Given the description of an element on the screen output the (x, y) to click on. 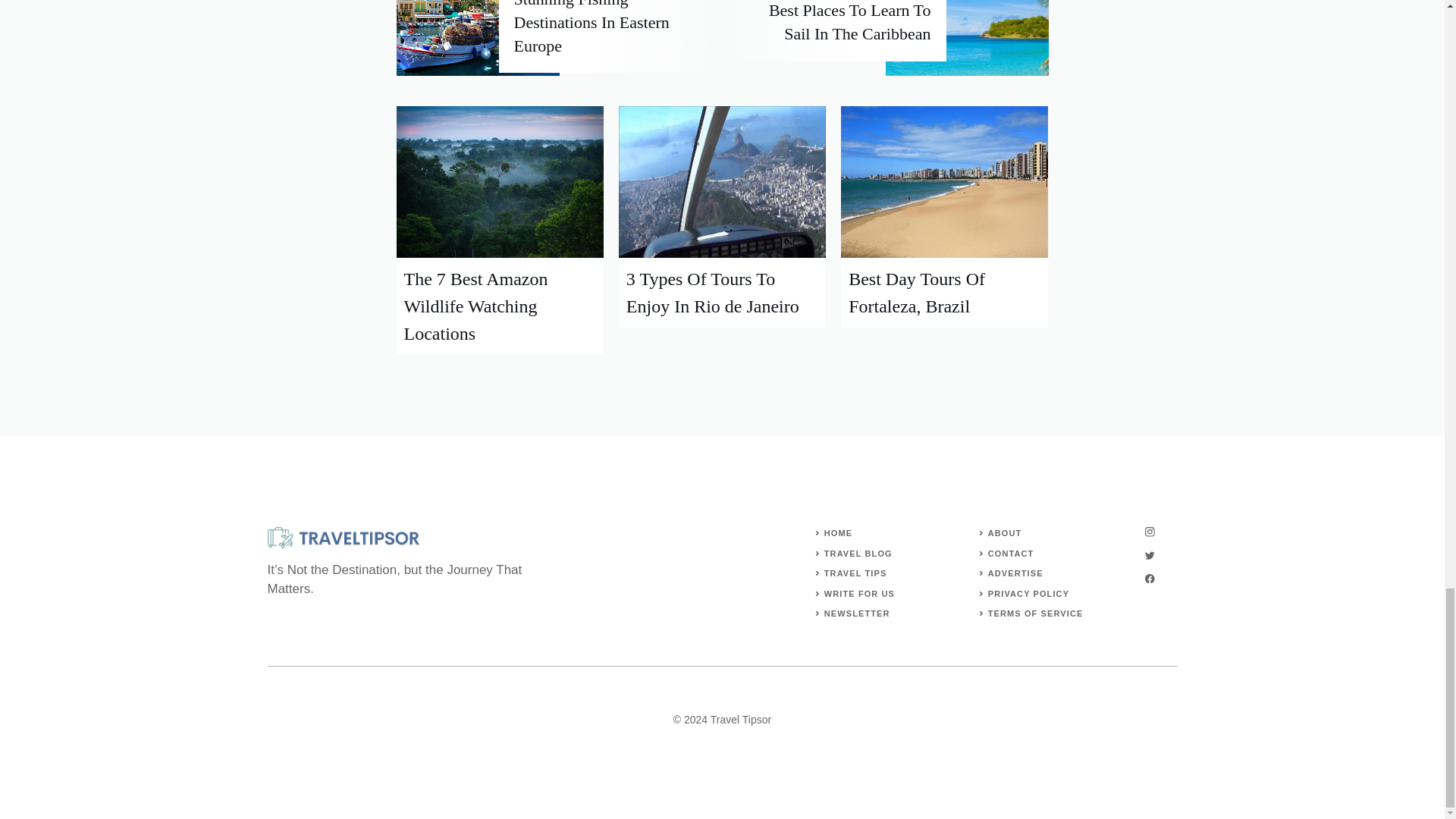
TRAVEL TIPS (855, 573)
TRAVEL BLOG (858, 552)
WRITE FOR US (859, 593)
travel-tipsor-logo (342, 537)
Best Places To Learn To Sail In The Caribbean (849, 21)
Stunning Fishing Destinations In Eastern Europe (591, 27)
HOME (837, 532)
NEWSLETTER (856, 613)
